Given the description of an element on the screen output the (x, y) to click on. 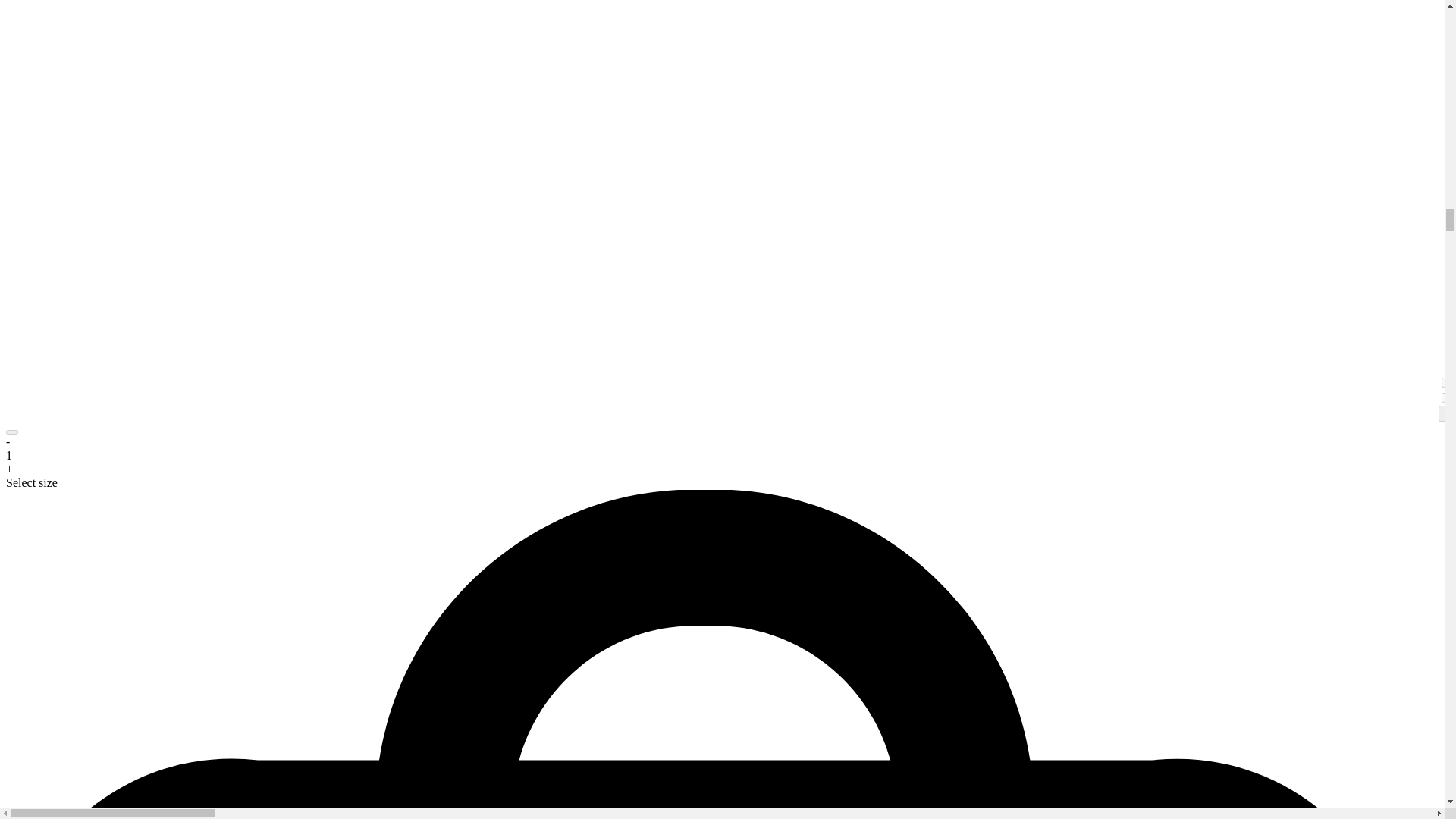
on (1446, 397)
on (1446, 382)
